Given the description of an element on the screen output the (x, y) to click on. 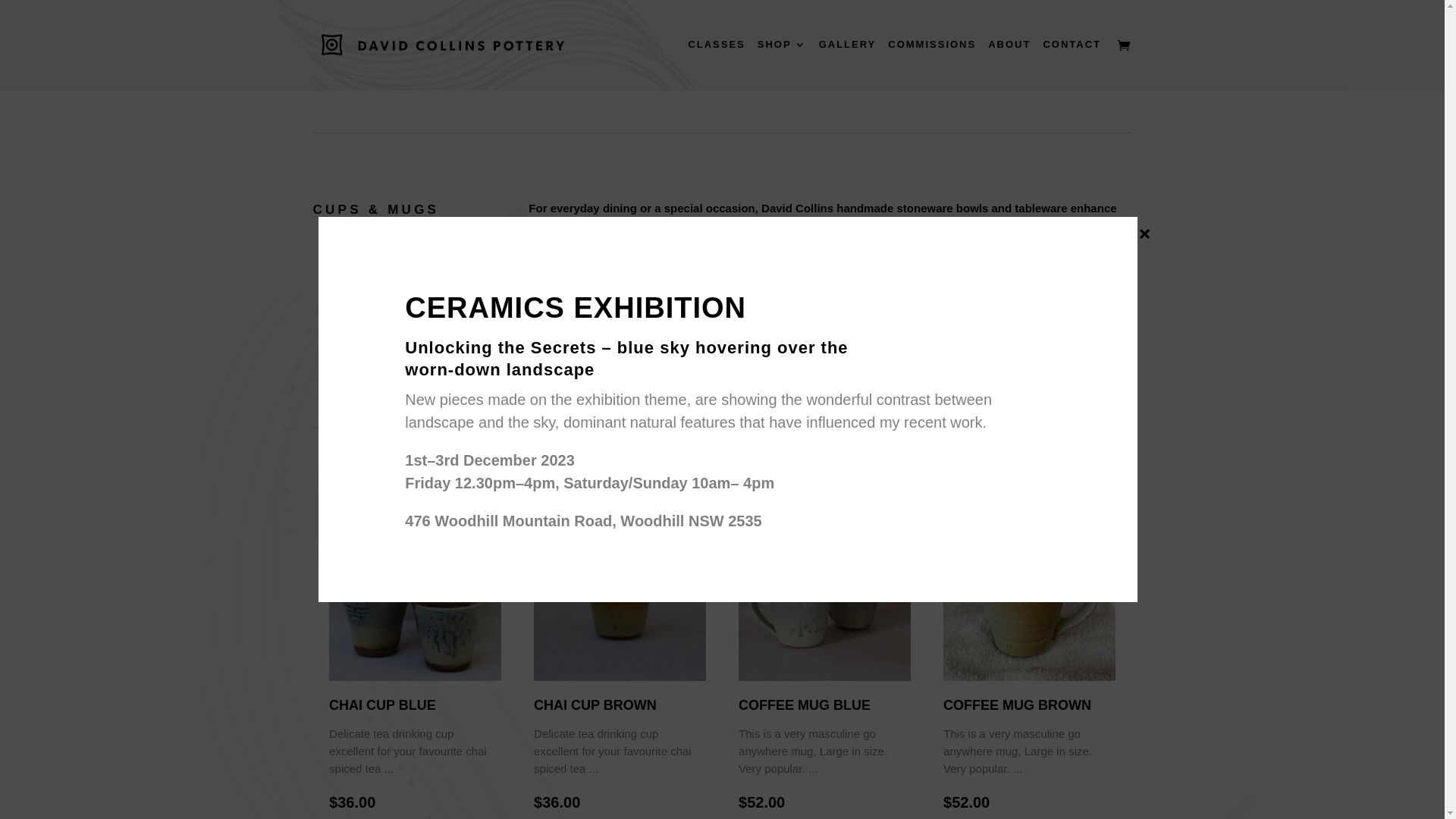
ABOUT Element type: text (1009, 64)
CONTACT Element type: text (1071, 64)
GALLERY Element type: text (847, 64)
SHOP Element type: text (781, 64)
COMMISSIONS Element type: text (931, 64)
CLASSES Element type: text (715, 64)
